Given the description of an element on the screen output the (x, y) to click on. 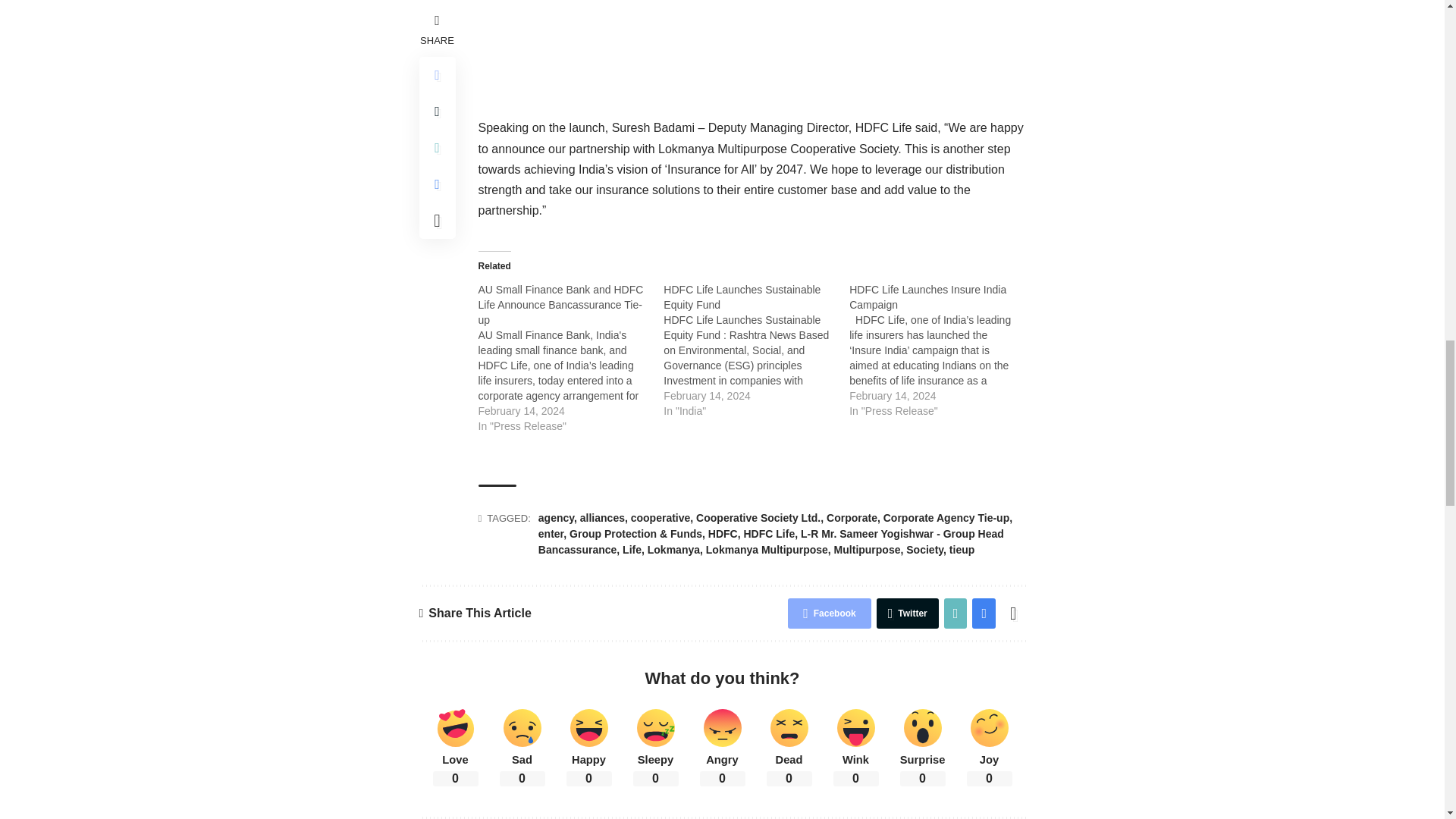
HDFC Life Launches Sustainable Equity Fund (755, 349)
HDFC Life Launches Insure India Campaign (927, 297)
HDFC Life Launches Insure India Campaign (941, 349)
HDFC Life Launches Sustainable Equity Fund (742, 297)
